Given the description of an element on the screen output the (x, y) to click on. 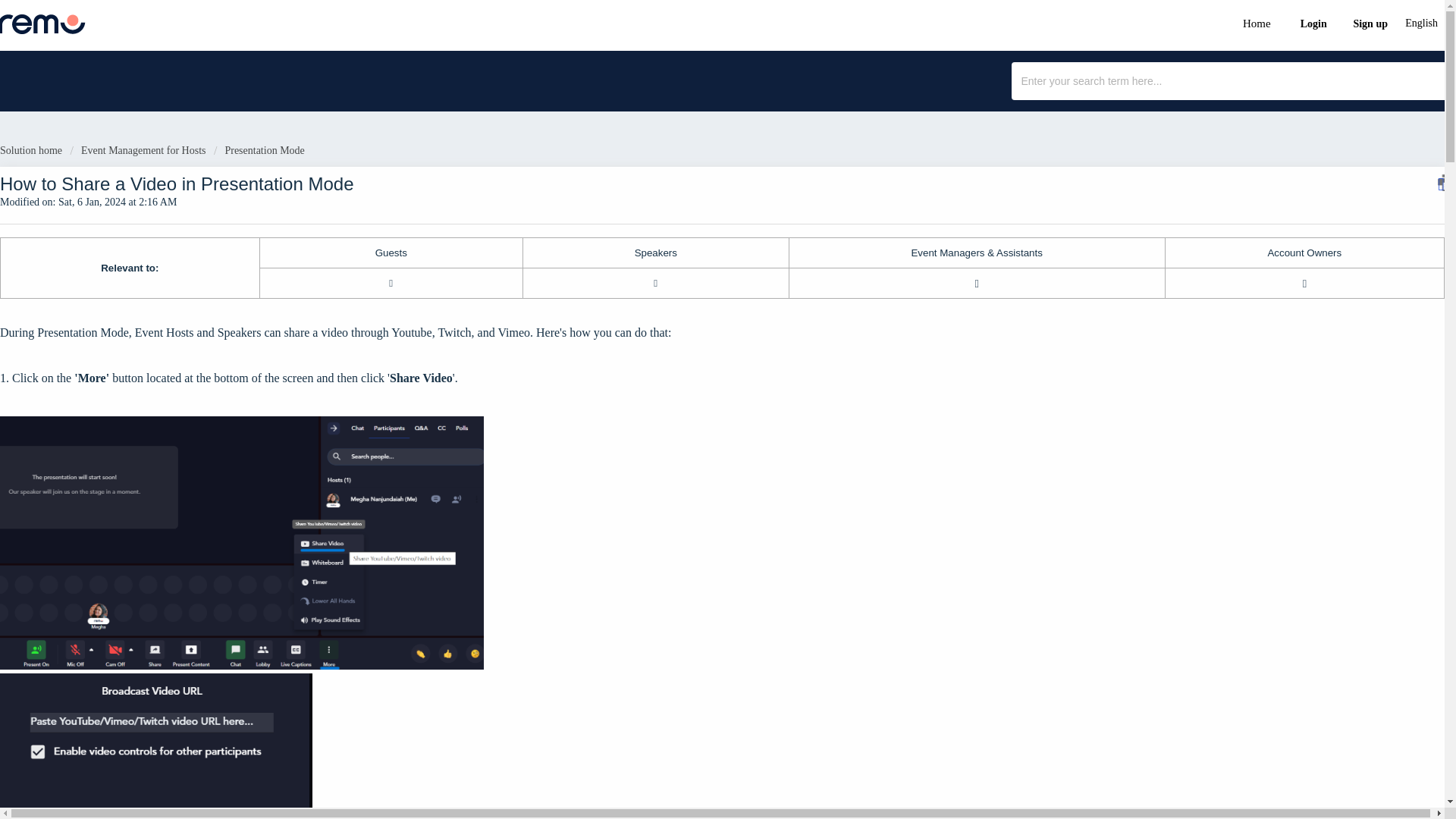
Chat (1406, 767)
Event Management for Hosts (137, 150)
Login (1313, 20)
Presentation Mode (259, 150)
Sign up (1370, 20)
Solution home (32, 150)
Home (1256, 20)
